Given the description of an element on the screen output the (x, y) to click on. 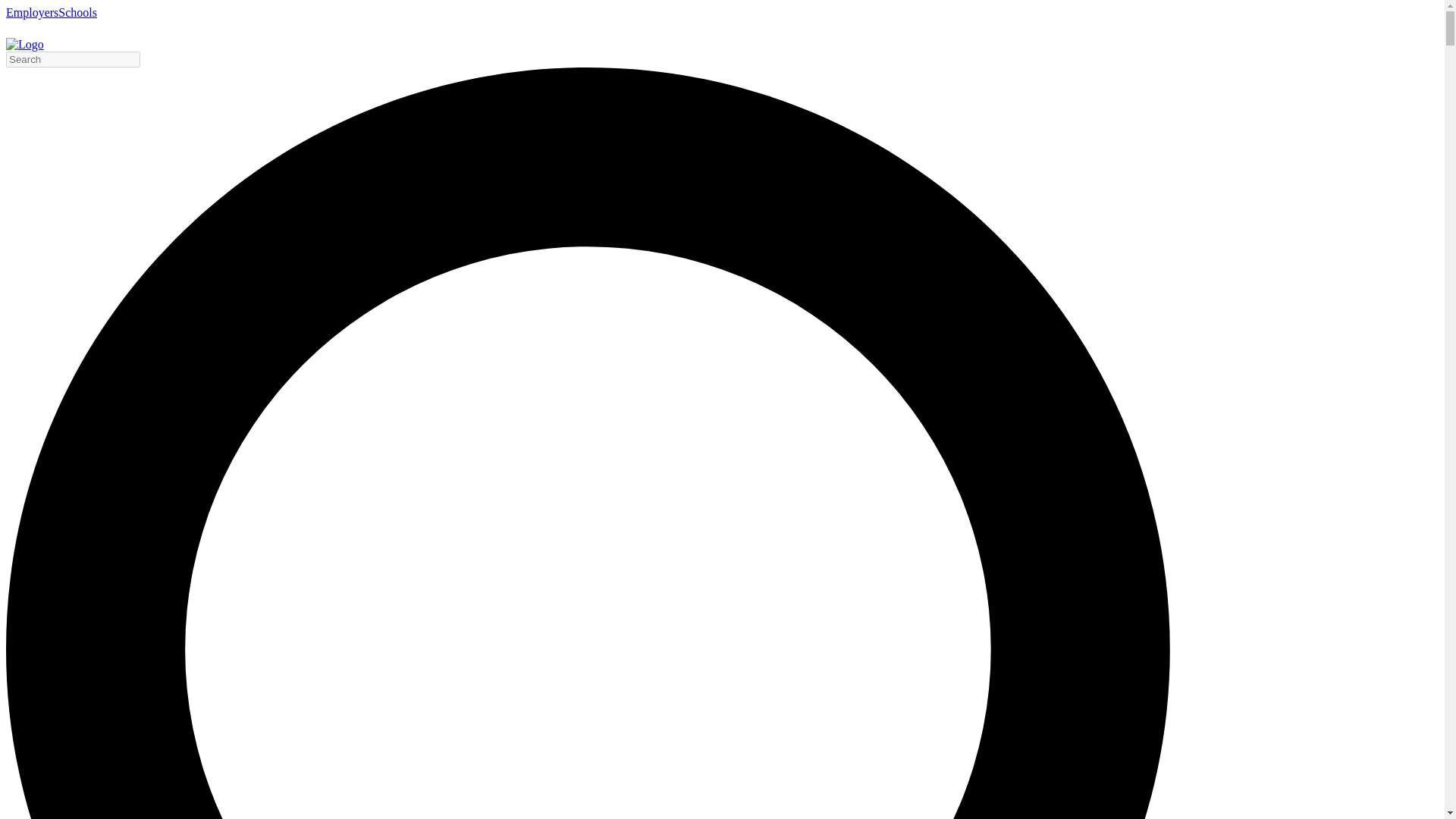
Schools (77, 11)
Employers (31, 11)
